Given the description of an element on the screen output the (x, y) to click on. 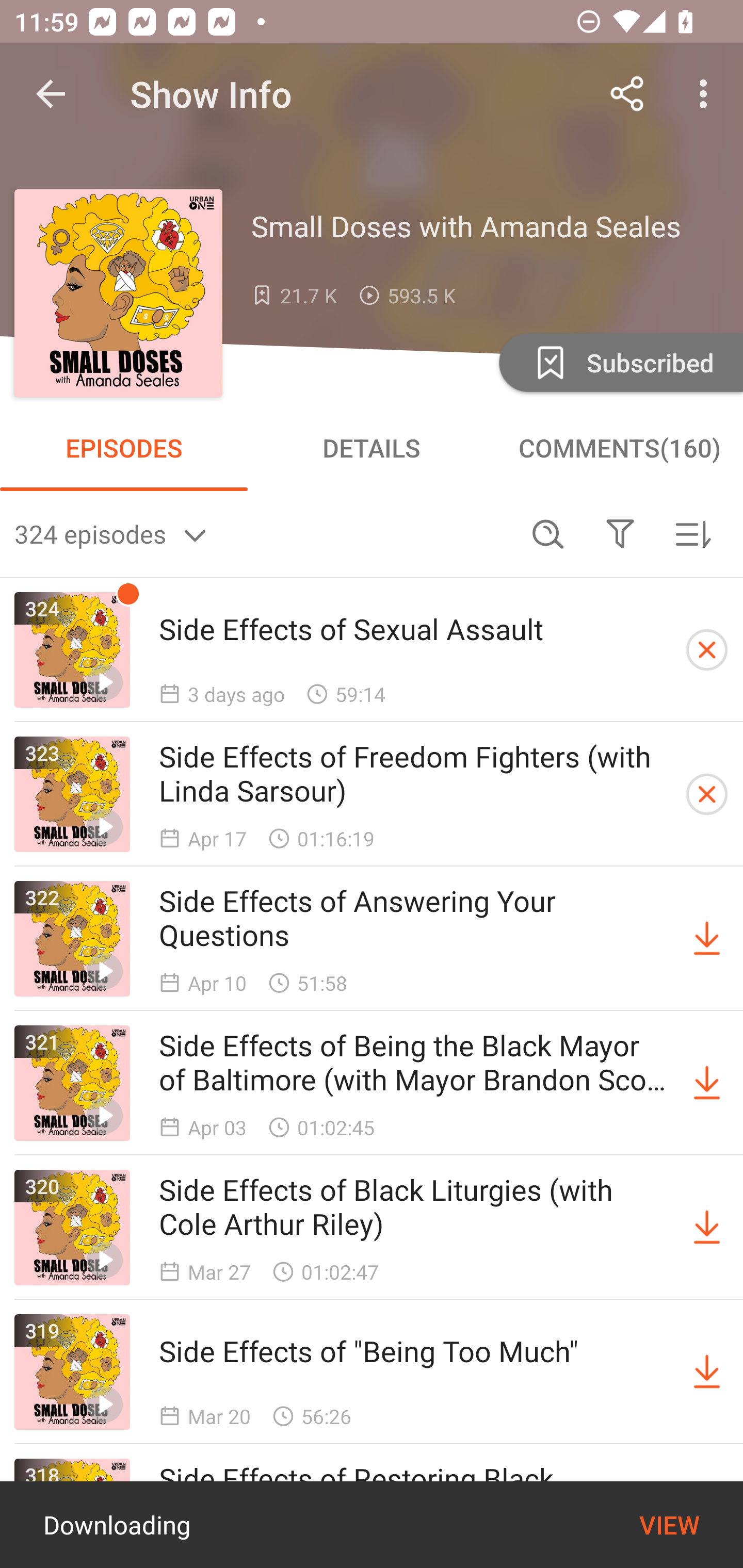
Navigate up (50, 93)
Share (626, 93)
More options (706, 93)
Unsubscribe Subscribed (619, 361)
EPISODES (123, 447)
DETAILS (371, 447)
COMMENTS(160) (619, 447)
324 episodes  (262, 533)
 Search (547, 533)
 (619, 533)
 Sorted by newest first (692, 533)
Cancel Downloading (706, 649)
Cancel Downloading (706, 793)
Download (706, 939)
Download (706, 1083)
Download (706, 1227)
Download (706, 1371)
100.0 Medicine Woman Played Play (371, 1524)
VIEW (669, 1524)
